Given the description of an element on the screen output the (x, y) to click on. 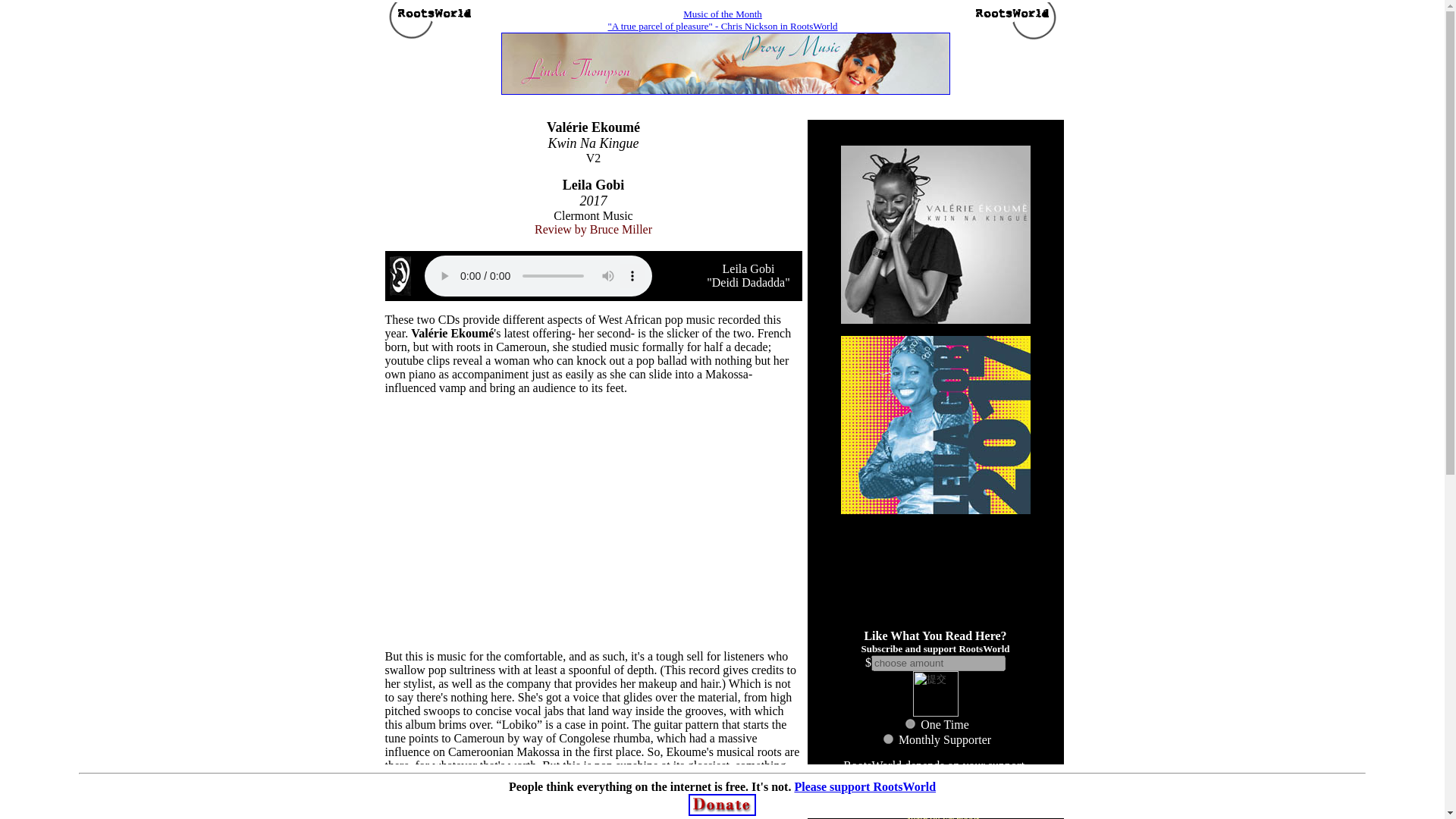
choose amount (938, 662)
M (888, 738)
D (910, 723)
Share on Facebook (935, 814)
Contribute in any amount (935, 779)
